Given the description of an element on the screen output the (x, y) to click on. 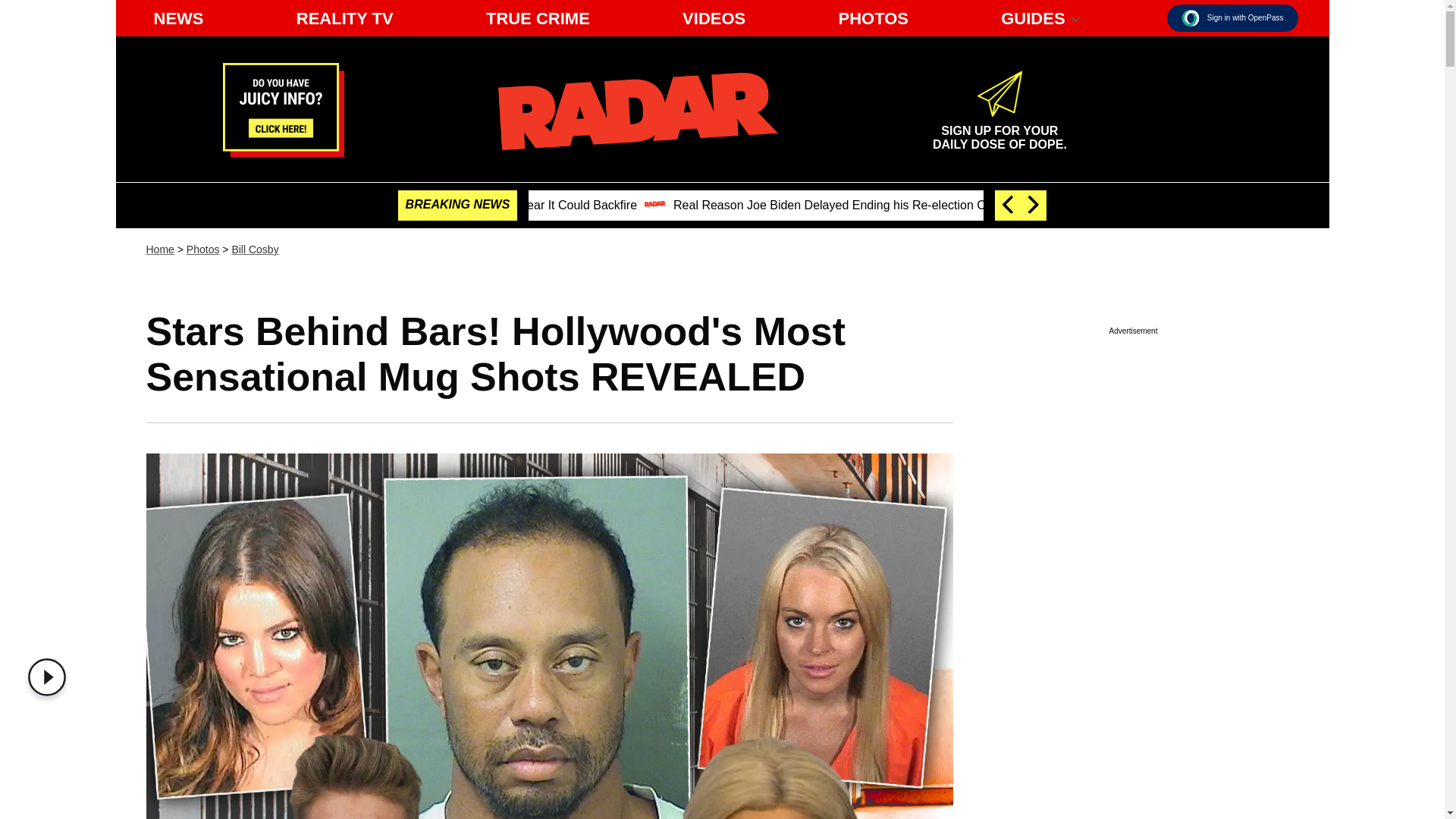
PHOTOS (872, 18)
Radar Online (637, 110)
OpenPass Logo (1190, 17)
Sign in with OpenPass (1232, 17)
Trinity Audio Player (50, 677)
REALITY TV (344, 18)
Email us your tip (282, 152)
Photos (202, 249)
Home (159, 249)
Sign up for your daily dose of dope. (999, 130)
VIDEOS (713, 18)
NEWS (178, 18)
Bill Cosby (254, 249)
TRUE CRIME (537, 18)
